Given the description of an element on the screen output the (x, y) to click on. 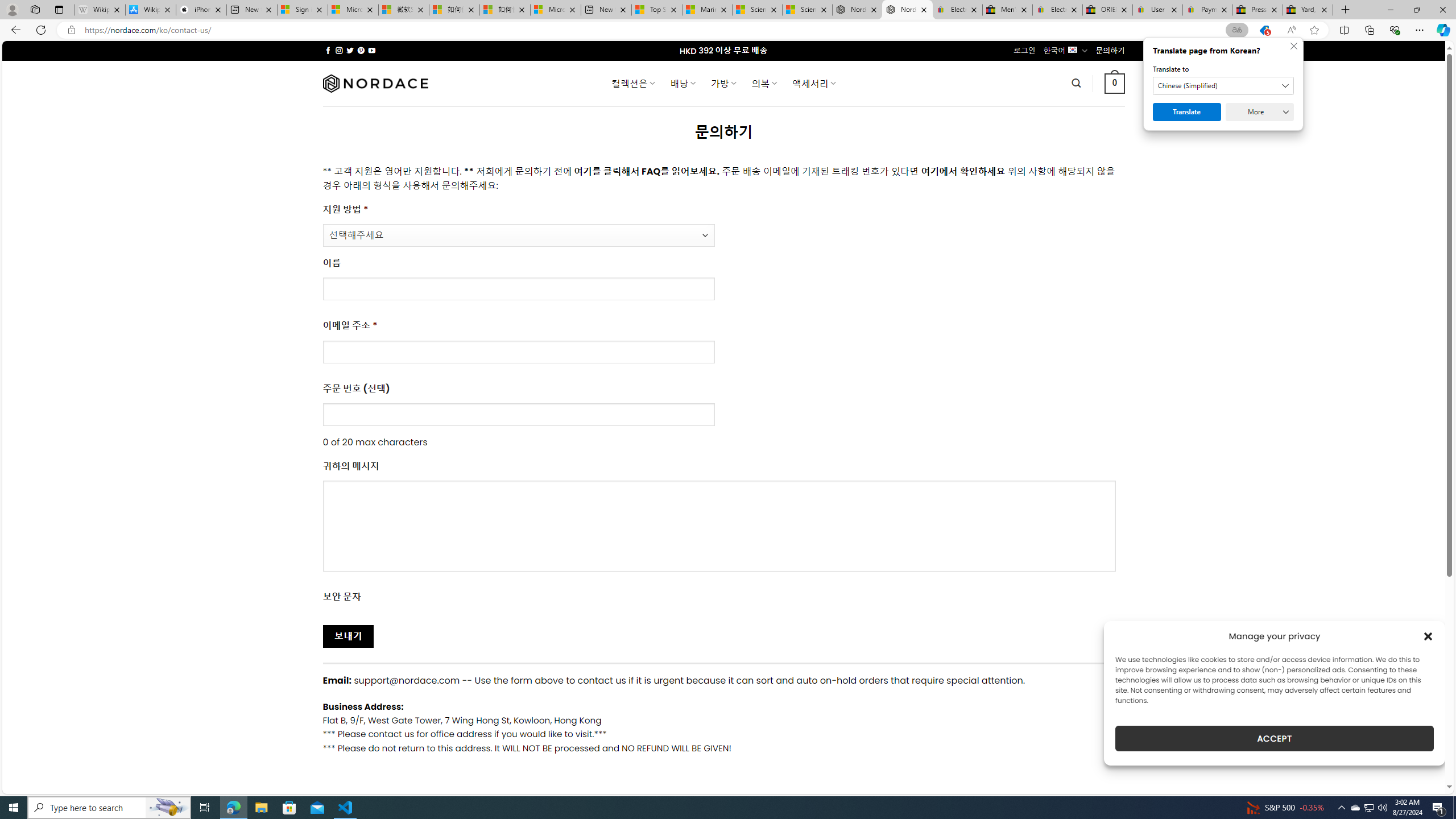
iPhone - Apple (201, 9)
 0  (1115, 83)
Follow on YouTube (371, 50)
